Given the description of an element on the screen output the (x, y) to click on. 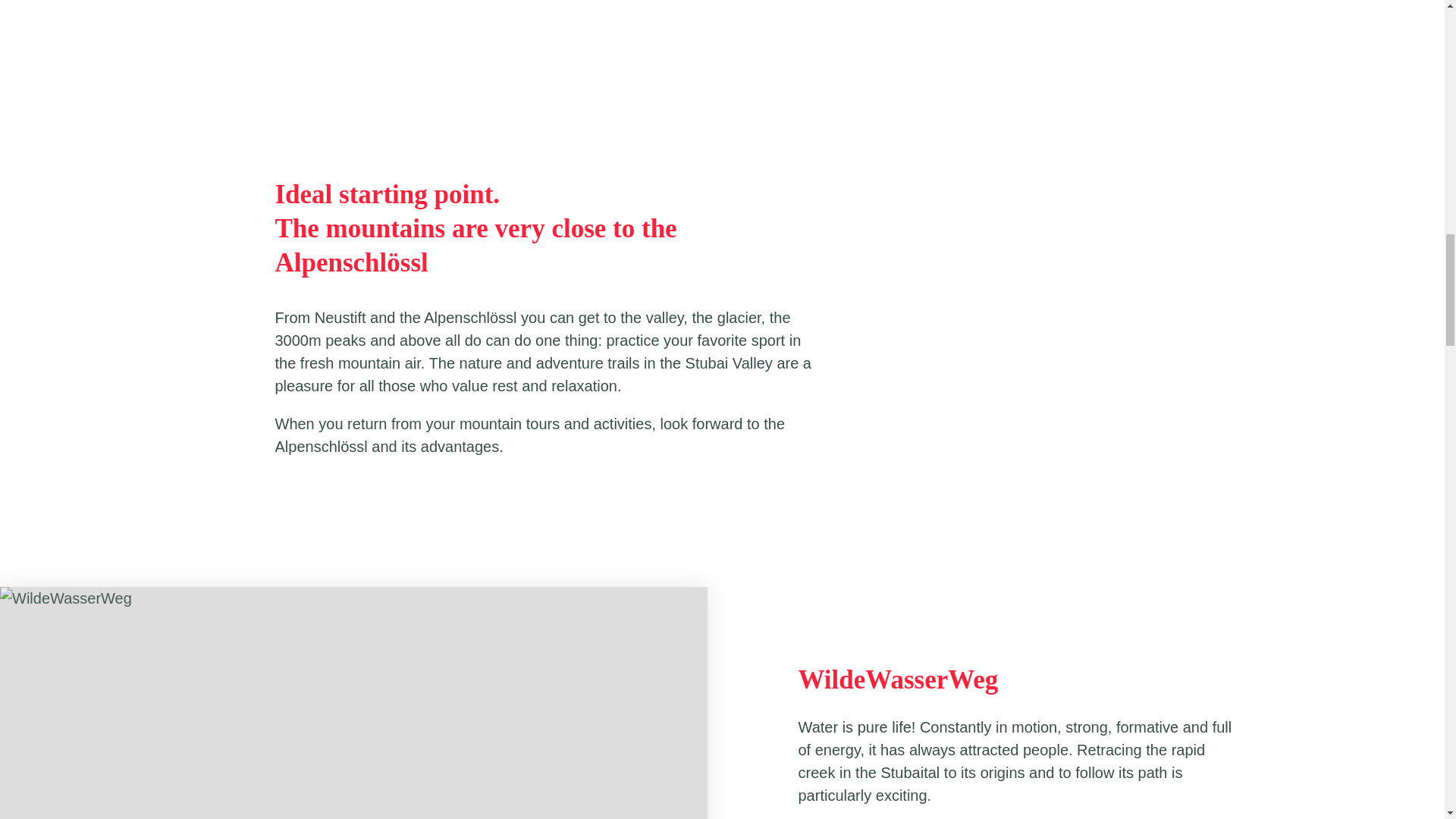
WildeWasserWeg (897, 679)
